Given the description of an element on the screen output the (x, y) to click on. 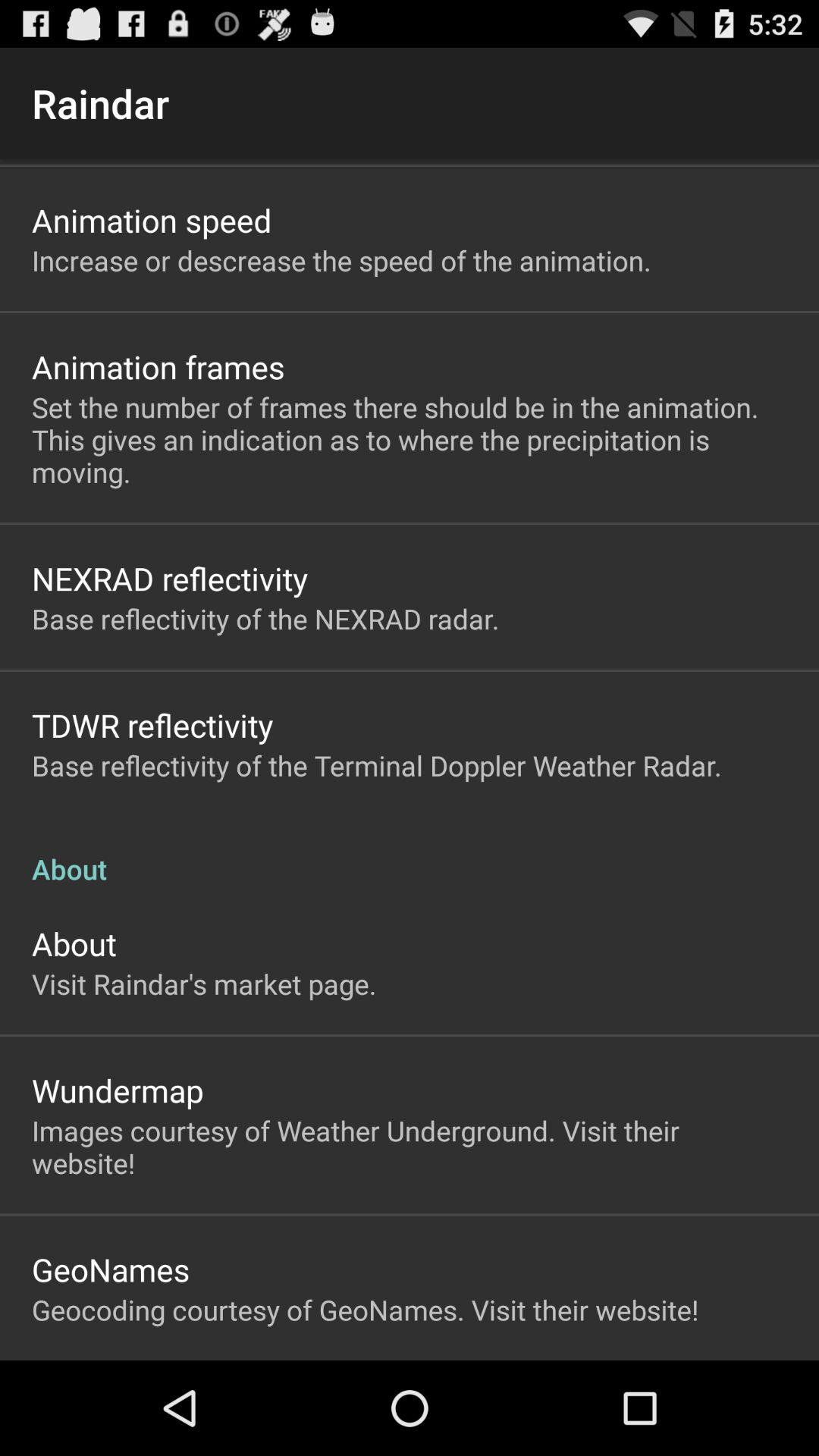
launch icon below base reflectivity of item (152, 724)
